Given the description of an element on the screen output the (x, y) to click on. 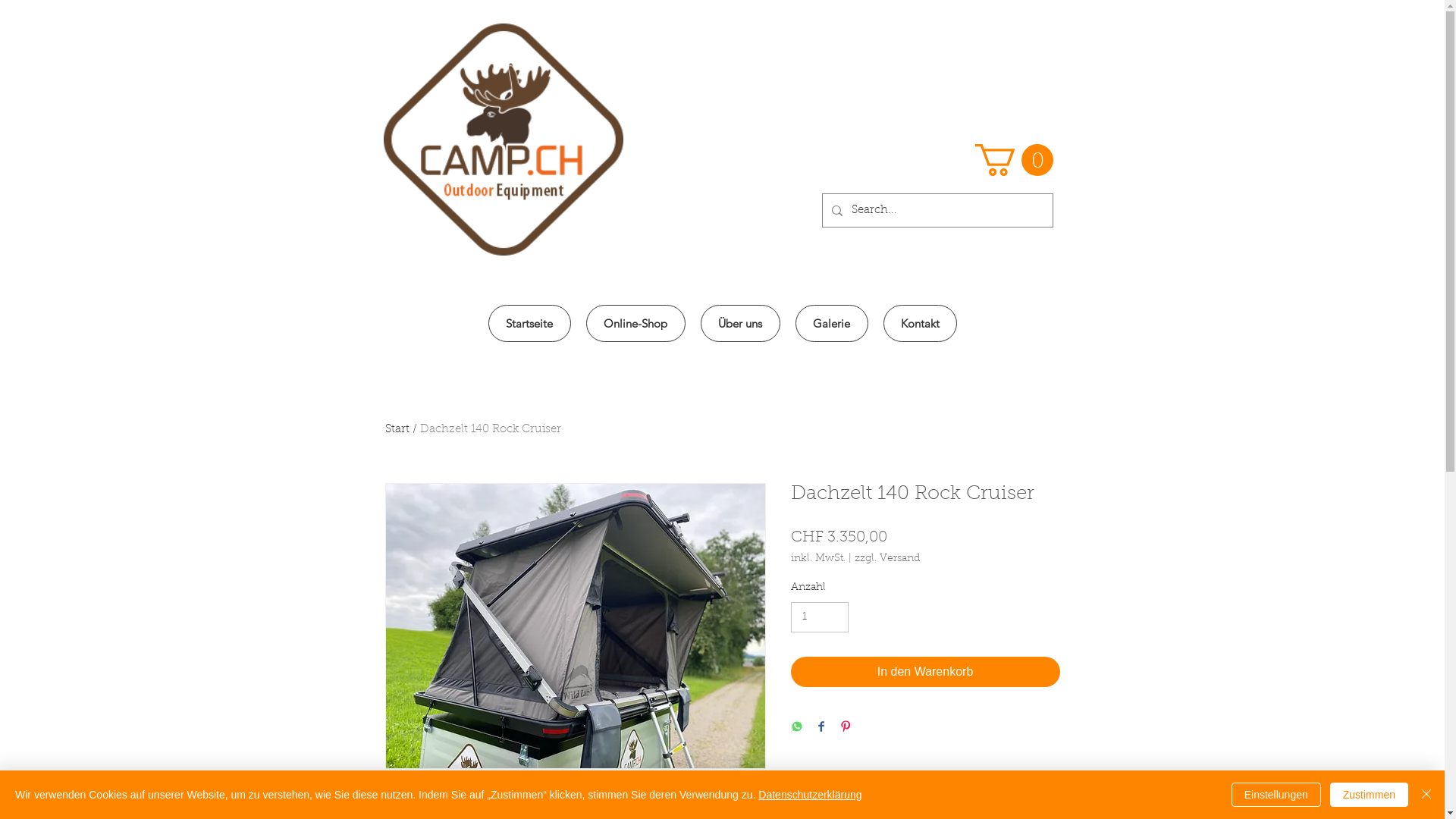
Start Element type: text (397, 429)
Galerie Element type: text (830, 323)
Einstellungen Element type: text (1276, 794)
In den Warenkorb Element type: text (924, 671)
Dachzelt 140 Rock Cruiser Element type: text (490, 429)
Startseite Element type: text (529, 323)
Zustimmen Element type: text (1369, 794)
Online-Shop Element type: text (634, 323)
zzgl. Versand Element type: text (886, 558)
0 Element type: text (1014, 159)
Kontakt Element type: text (919, 323)
